Given the description of an element on the screen output the (x, y) to click on. 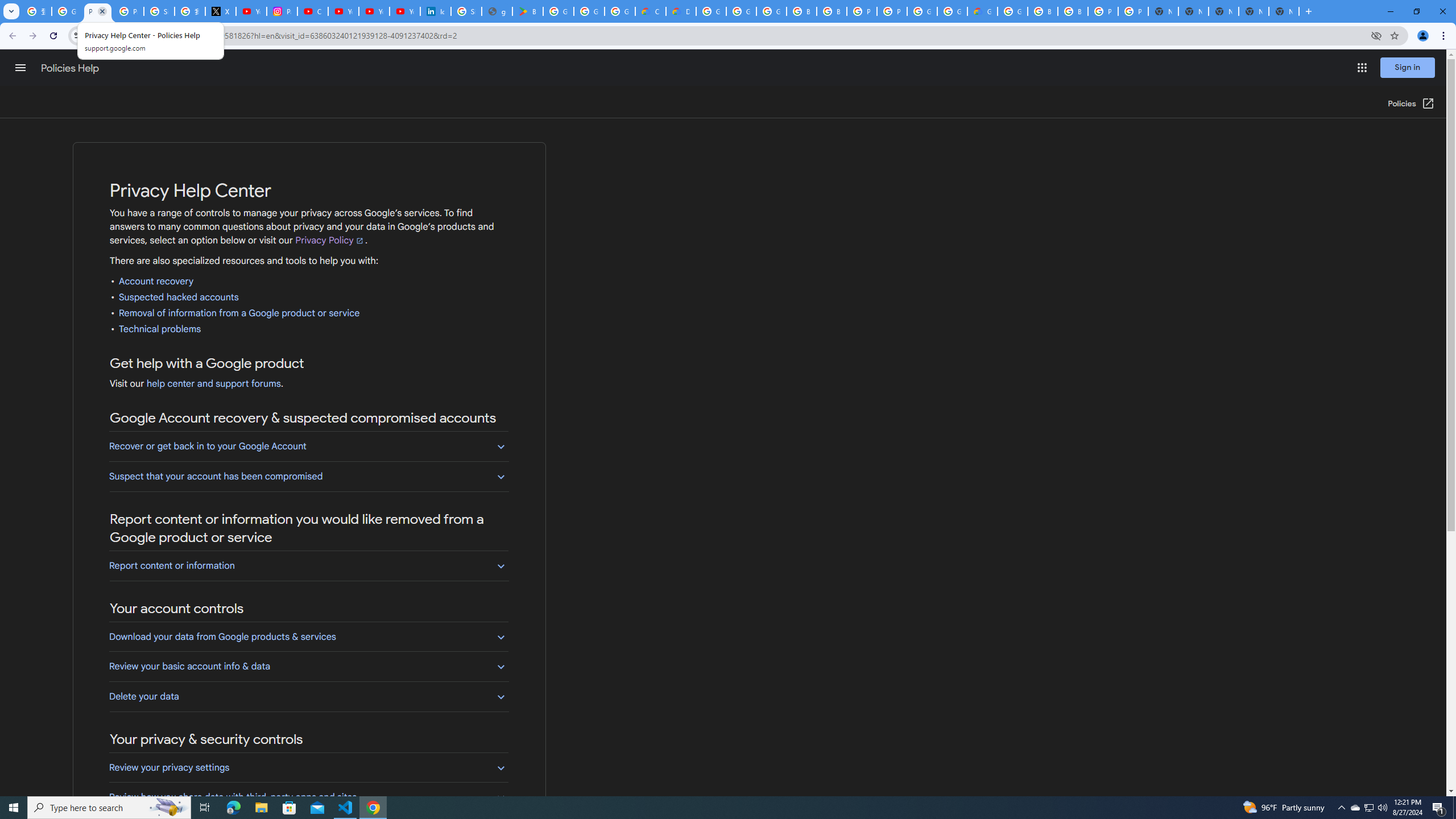
Removal of information from a Google product or service (239, 313)
YouTube Content Monetization Policies - How YouTube Works (251, 11)
Account recovery (156, 281)
Privacy Help Center - Policies Help (127, 11)
Main menu (20, 67)
Privacy Help Center - Policies Help (97, 11)
New Tab (1283, 11)
Delete your data (308, 696)
Review your privacy settings (308, 767)
Policies Help (70, 68)
